Given the description of an element on the screen output the (x, y) to click on. 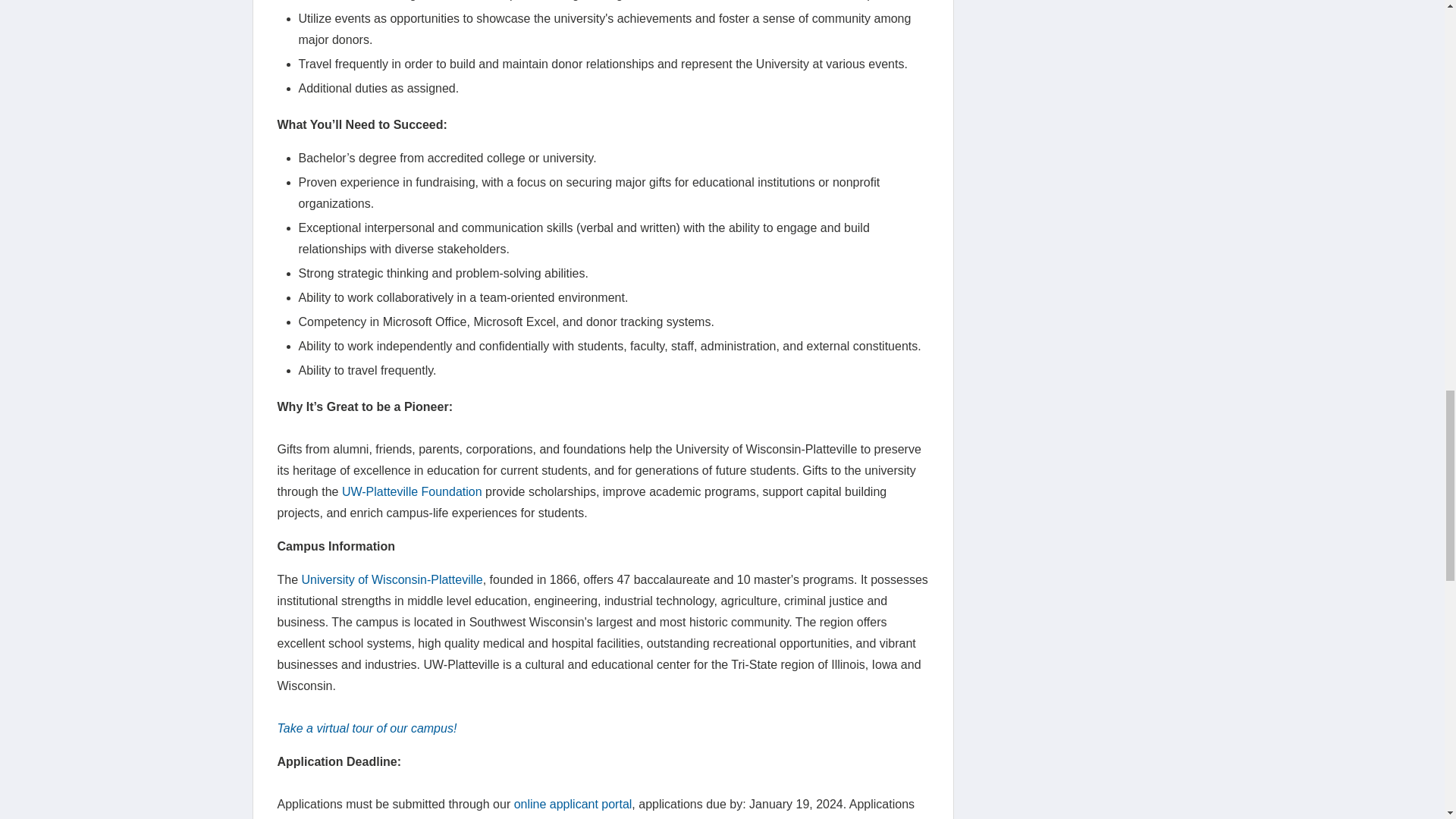
Take a virtual tour of our campus! (367, 727)
UW-Platteville Foundation (411, 491)
online applicant portal (572, 803)
University of Wisconsin-Platteville (392, 579)
